Given the description of an element on the screen output the (x, y) to click on. 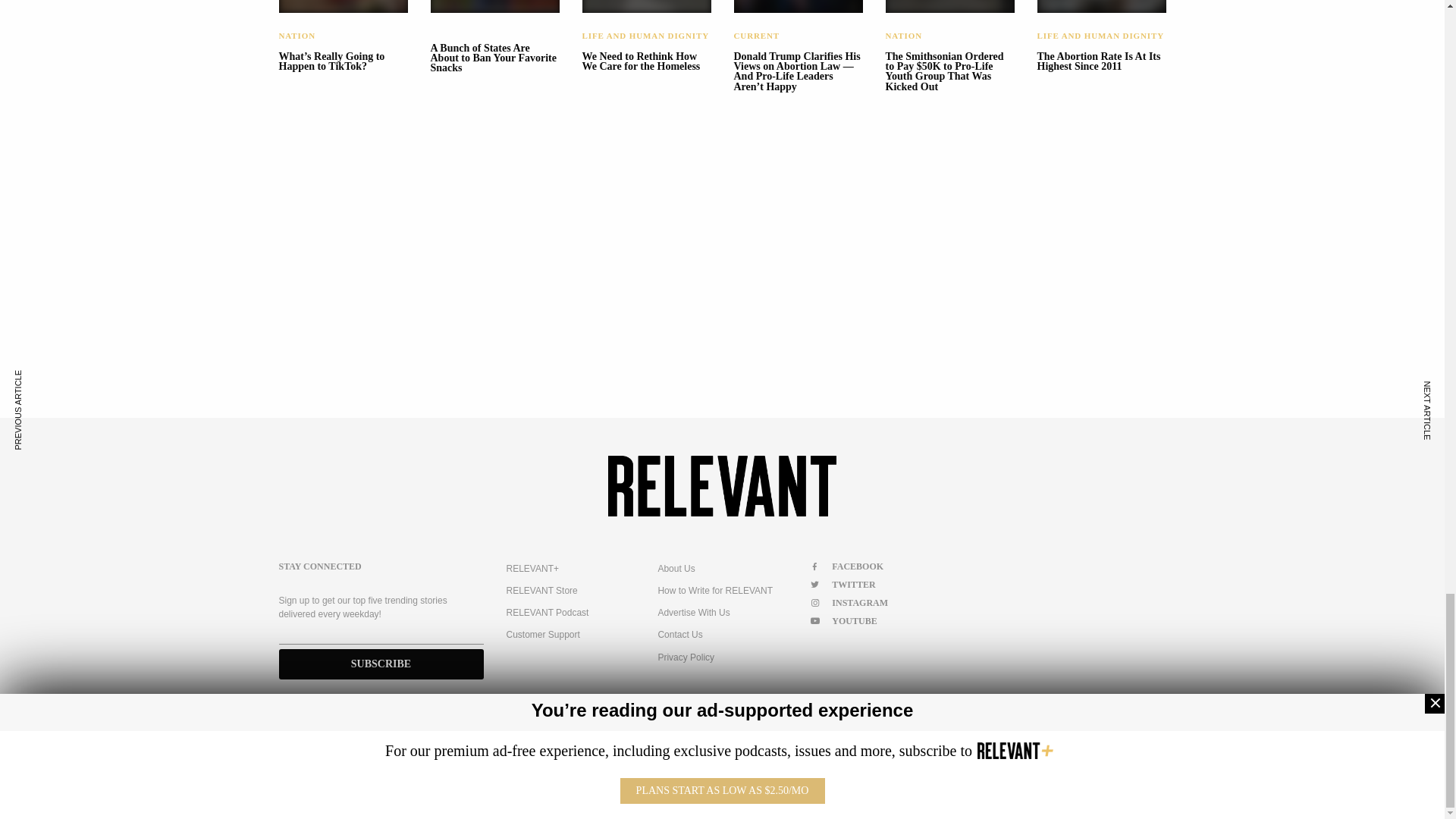
Subscribe (381, 664)
